Given the description of an element on the screen output the (x, y) to click on. 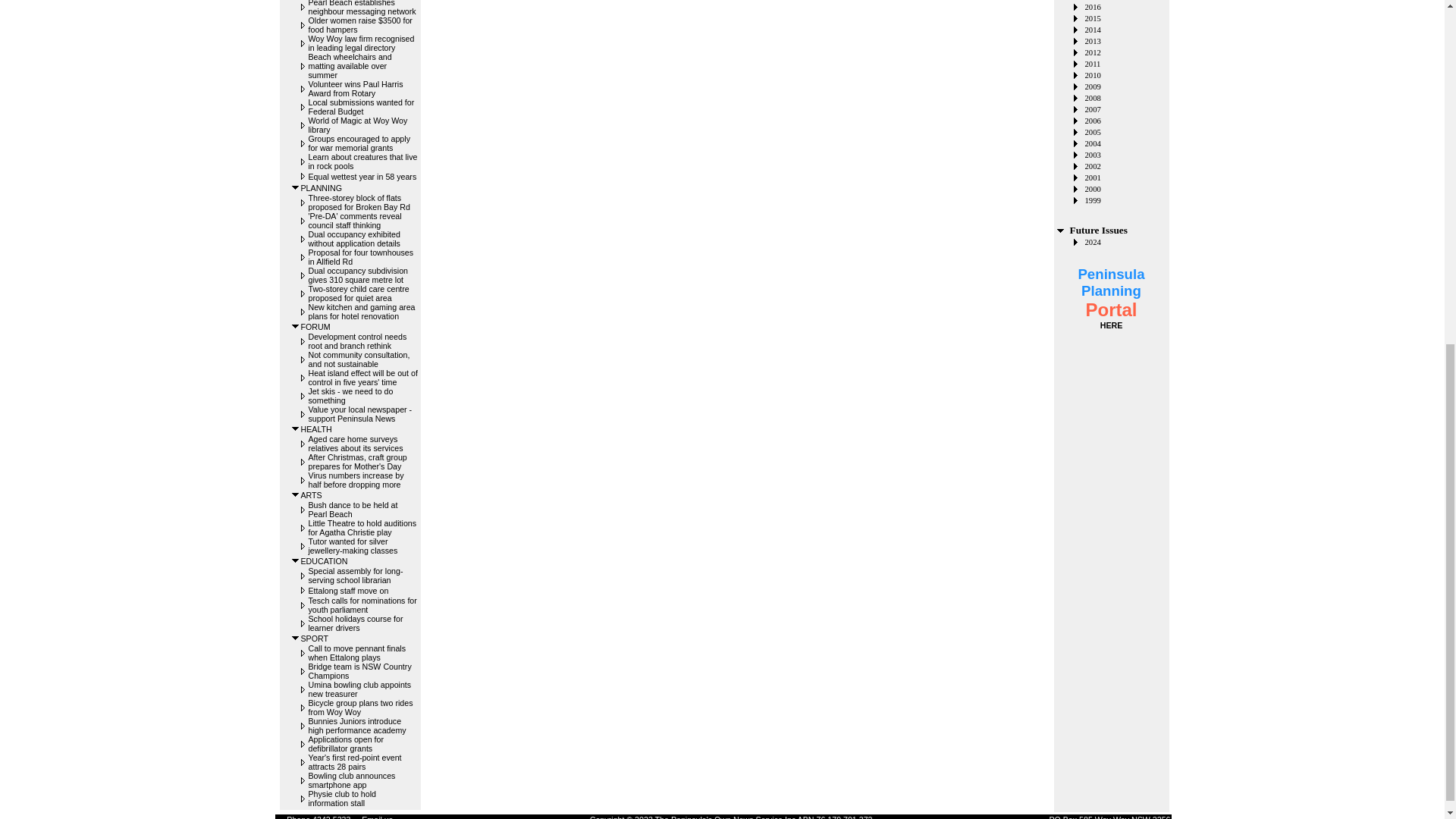
Three-storey block of flats proposed for Broken Bay Rd (358, 202)
Collapse  EDUCATION  (295, 560)
Volunteer wins Paul Harris Award from Rotary (355, 88)
Collapse  SPORT  (295, 637)
World of Magic at Woy Woy library (357, 125)
PLANNING (319, 187)
Dual occupancy exhibited without application details (352, 239)
Collapse  HEALTH  (295, 428)
Woy Woy law firm recognised in leading legal directory (360, 43)
'Pre-DA' comments reveal council staff thinking (354, 220)
